Given the description of an element on the screen output the (x, y) to click on. 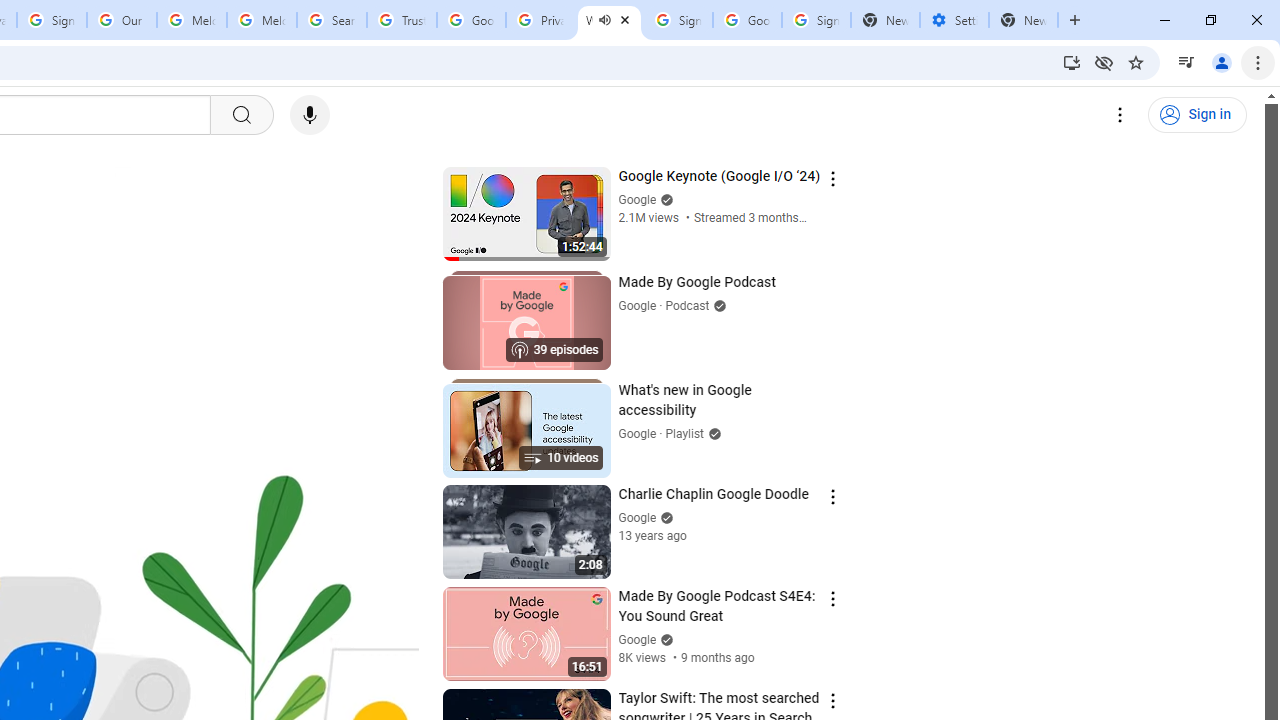
Sign in - Google Accounts (51, 20)
New Tab (1023, 20)
Install YouTube (1071, 62)
Google Ads - Sign in (470, 20)
Search our Doodle Library Collection - Google Doodles (332, 20)
Sign in - Google Accounts (816, 20)
Sign in - Google Accounts (677, 20)
